Given the description of an element on the screen output the (x, y) to click on. 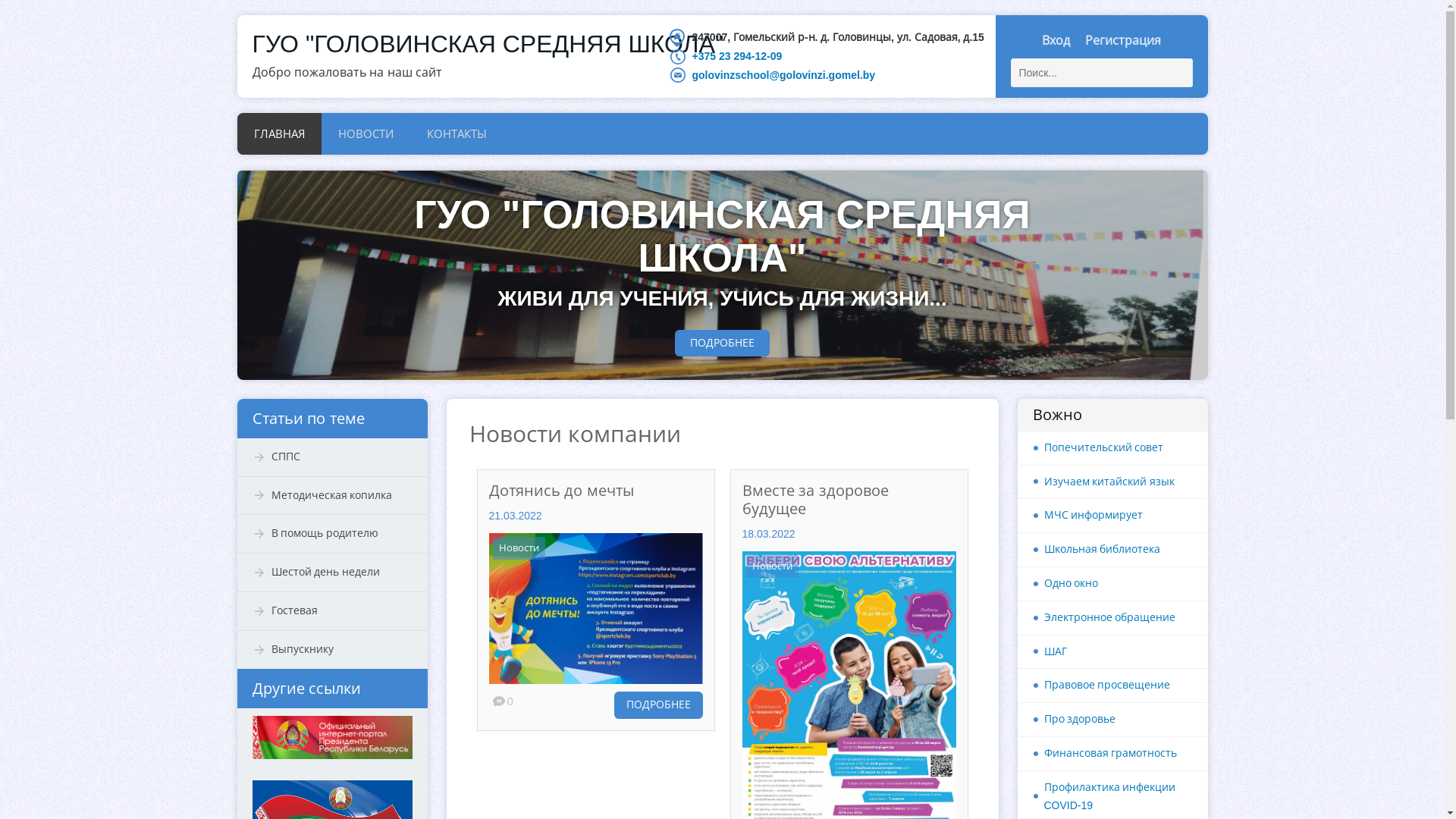
golovinzschool@golovinzi.gomel.by Element type: text (783, 75)
+375 23 294-12-09 Element type: text (736, 56)
